Given the description of an element on the screen output the (x, y) to click on. 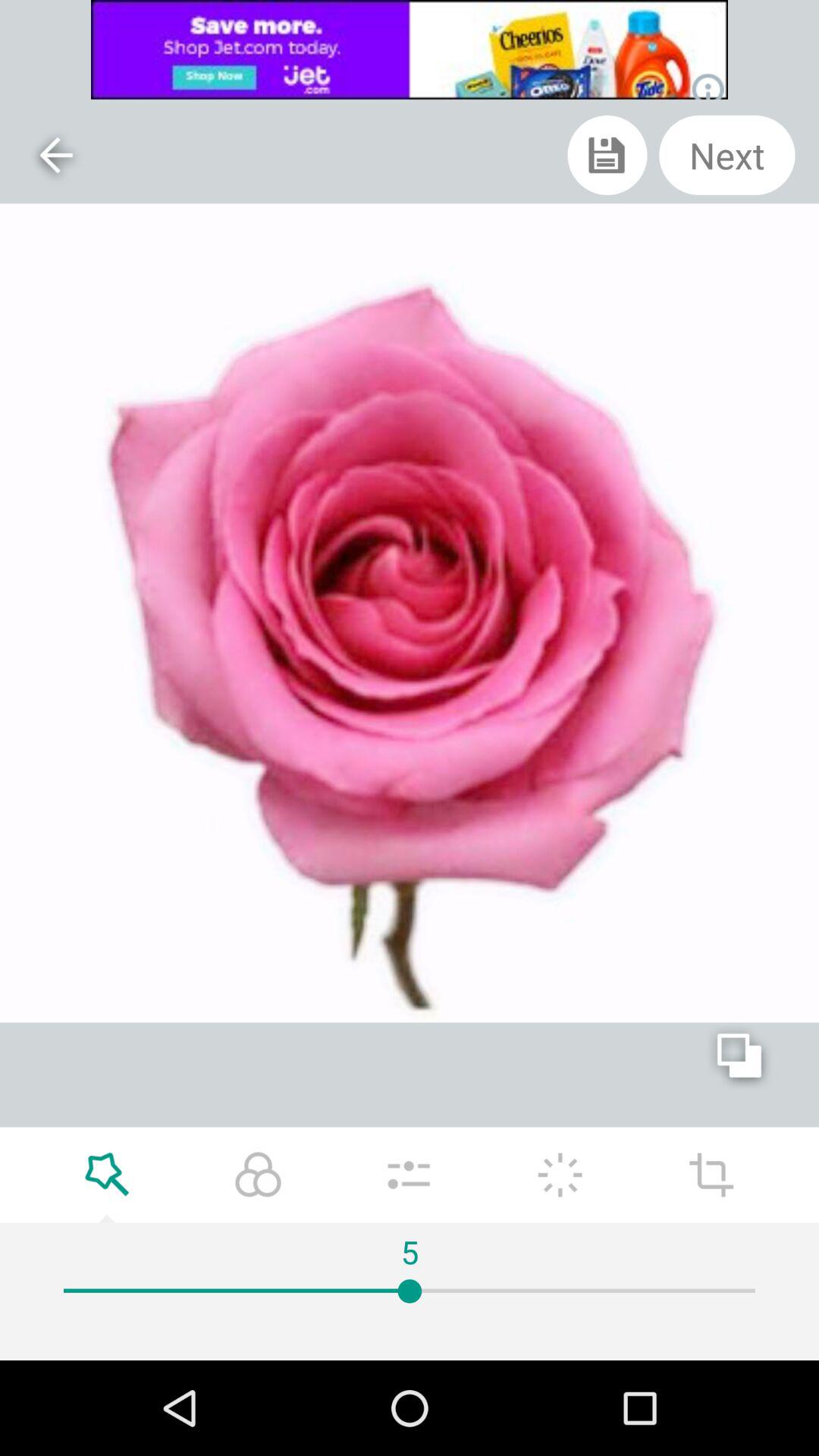
adjust the saturation (408, 1174)
